Given the description of an element on the screen output the (x, y) to click on. 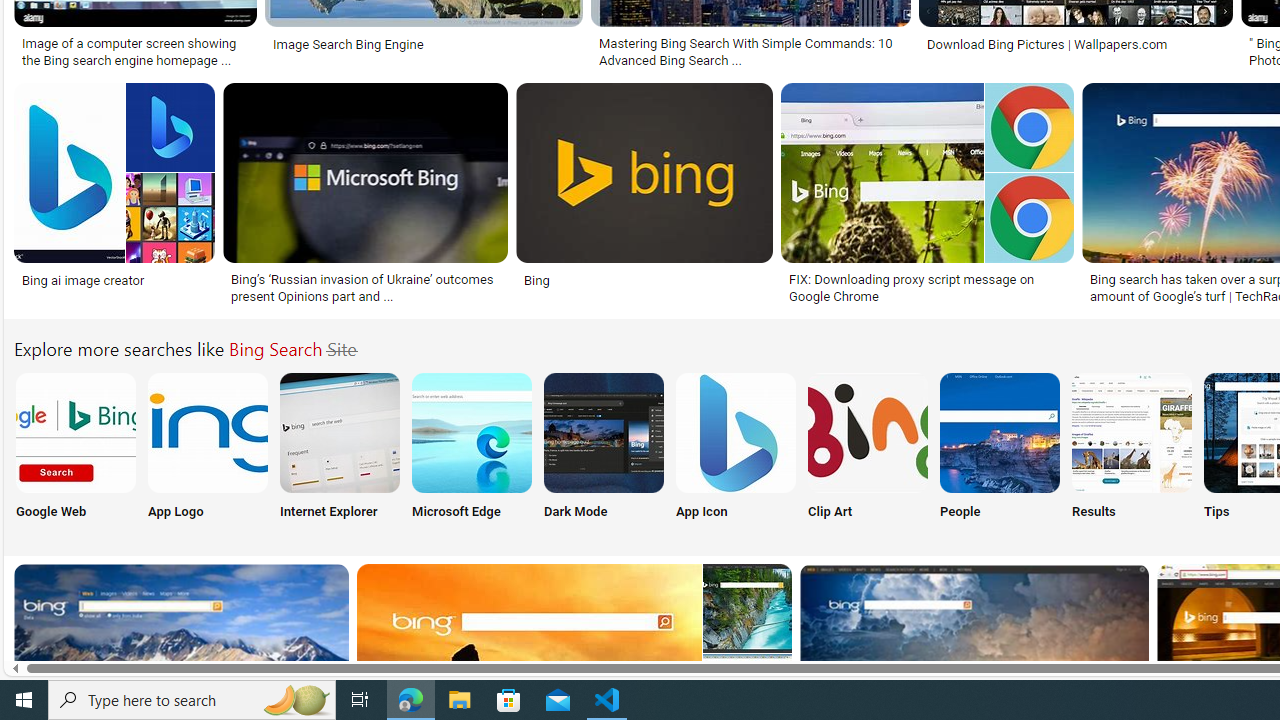
Download Bing Pictures | Wallpapers.com (1046, 44)
Download Bing Pictures | Wallpapers.com (1075, 44)
App Logo (207, 450)
App Icon (735, 450)
Bing Search App Logo App Logo (207, 450)
Results (1131, 450)
People (999, 450)
Bing Search Dark Mode (604, 432)
Bing Search Dark Mode Dark Mode (604, 450)
Google Web Search Bing (75, 432)
Bing ai image creator (114, 279)
Bing Search App Logo (207, 432)
Bing ai image creatorSave (118, 196)
Microsoft Edge (472, 450)
Bing Search Results (1131, 432)
